Given the description of an element on the screen output the (x, y) to click on. 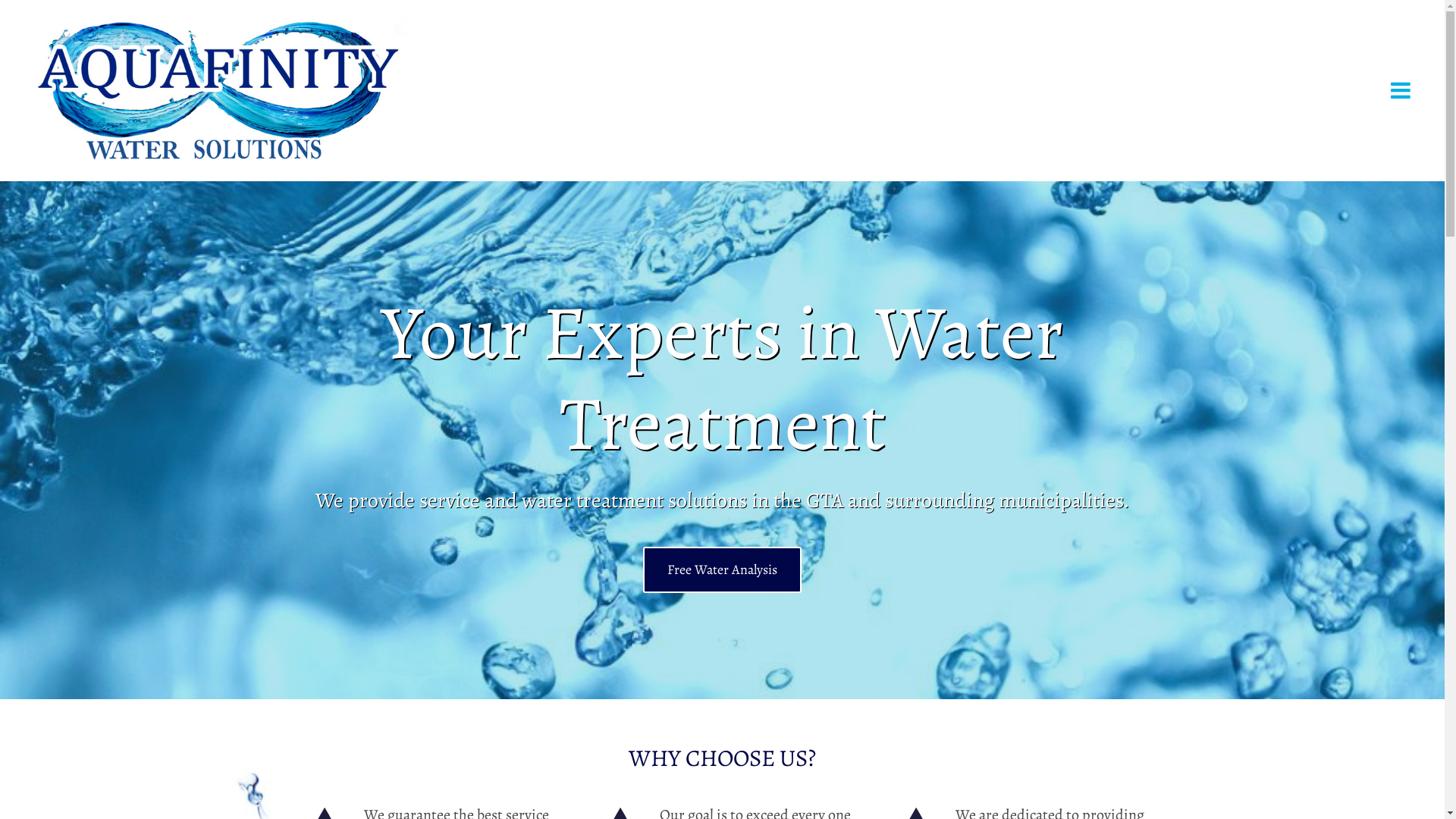
Free Water Analysis Element type: text (722, 569)
